Given the description of an element on the screen output the (x, y) to click on. 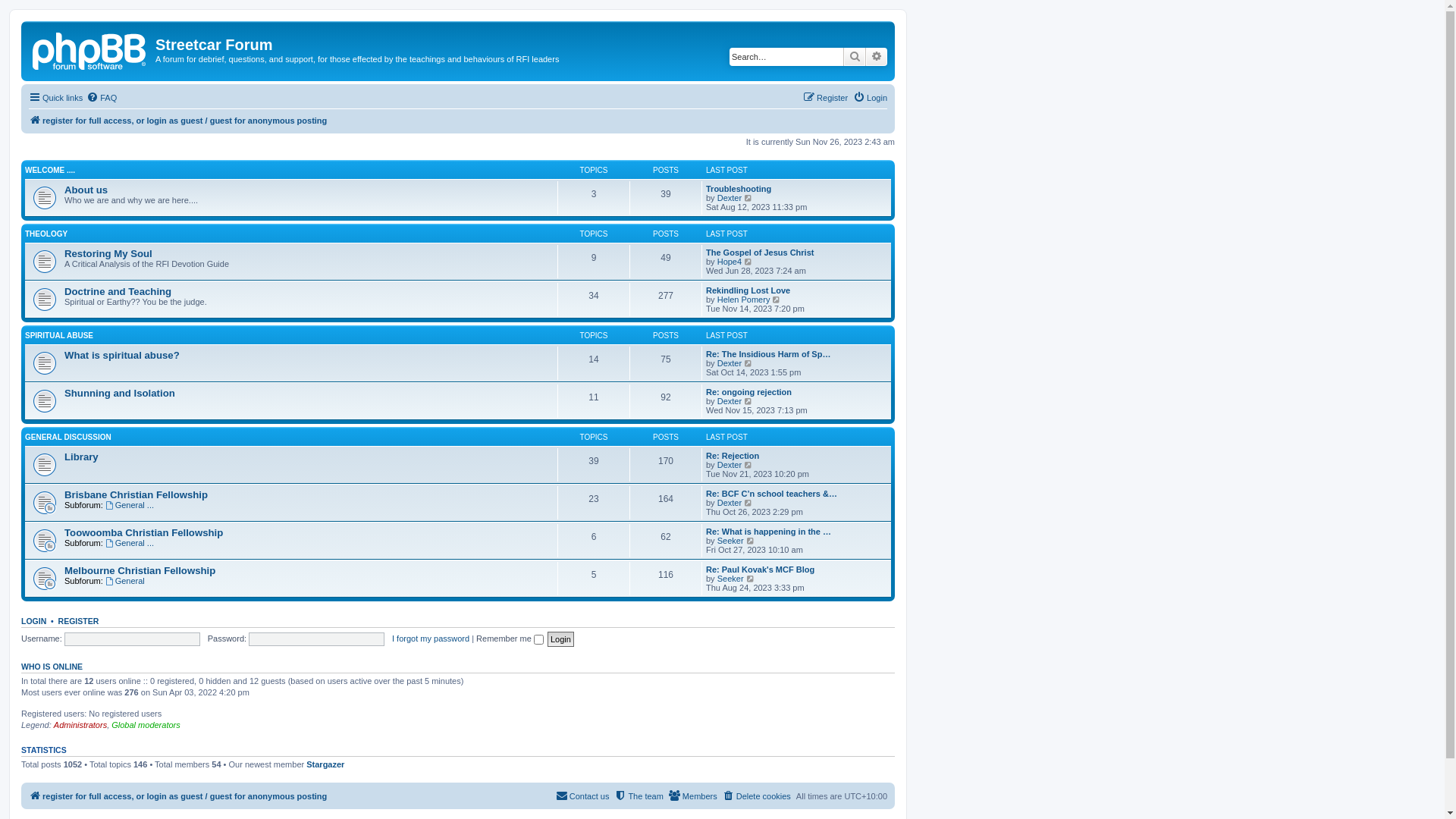
The Gospel of Jesus Christ Element type: text (759, 252)
THEOLOGY Element type: text (46, 233)
The team Element type: text (638, 796)
WHO IS ONLINE Element type: text (51, 666)
Toowoomba Christian Fellowship Element type: text (143, 532)
Dexter Element type: text (729, 464)
Login Element type: text (870, 97)
General ... Element type: text (129, 504)
About us Element type: text (85, 189)
WELCOME .... Element type: text (50, 170)
General Element type: text (124, 580)
Contact us Element type: text (582, 796)
Advanced search Element type: text (876, 56)
Search Element type: text (854, 56)
General ... Element type: text (129, 542)
Dexter Element type: text (729, 362)
Melbourne Christian Fellowship Element type: text (139, 570)
SPIRITUAL ABUSE Element type: text (59, 335)
Dexter Element type: text (729, 197)
Re: Paul Kovak's MCF Blog Element type: text (760, 569)
View the latest post Element type: text (748, 464)
Dexter Element type: text (729, 502)
Quick links Element type: text (55, 97)
I forgot my password Element type: text (430, 638)
Search for keywords Element type: hover (786, 56)
Members Element type: text (692, 796)
Restoring My Soul Element type: text (108, 253)
Hope4 Element type: text (729, 261)
Re: Rejection Element type: text (732, 455)
Library Element type: text (81, 456)
Delete cookies Element type: text (756, 796)
FAQ Element type: text (101, 97)
View the latest post Element type: text (748, 362)
What is spiritual abuse? Element type: text (121, 354)
Password Element type: hover (316, 639)
Register Element type: text (825, 97)
View the latest post Element type: text (748, 197)
Shunning and Isolation Element type: text (119, 392)
GENERAL DISCUSSION Element type: text (68, 437)
Administrators Element type: text (79, 724)
LOGIN Element type: text (33, 620)
Username Element type: hover (132, 639)
Global moderators Element type: text (145, 724)
Login Element type: text (560, 639)
Brisbane Christian Fellowship Element type: text (135, 494)
Rekindling Lost Love Element type: text (748, 289)
View the latest post Element type: text (748, 400)
Re: ongoing rejection Element type: text (748, 391)
View the latest post Element type: text (748, 261)
Helen Pomery Element type: text (743, 299)
View the latest post Element type: text (776, 299)
Seeker Element type: text (730, 578)
Doctrine and Teaching Element type: text (117, 291)
Stargazer Element type: text (325, 764)
REGISTER Element type: text (78, 620)
Troubleshooting Element type: text (738, 188)
View the latest post Element type: text (751, 578)
Seeker Element type: text (730, 540)
View the latest post Element type: text (751, 540)
View the latest post Element type: text (748, 502)
Dexter Element type: text (729, 400)
